Given the description of an element on the screen output the (x, y) to click on. 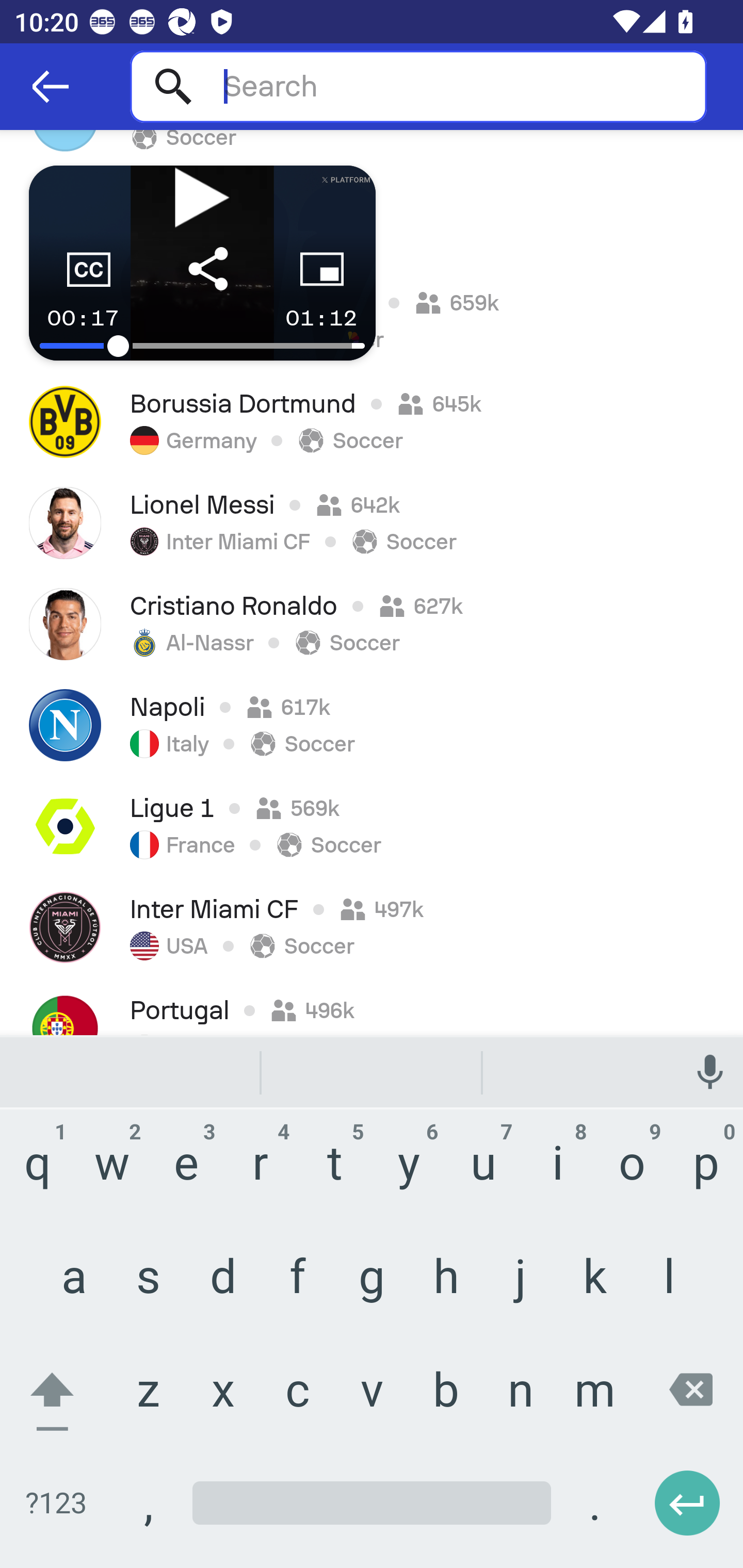
Navigate up (50, 86)
Search (418, 86)
Borussia Dortmund 645k Germany Soccer (371, 421)
Lionel Messi 642k Inter Miami CF Soccer (371, 522)
Cristiano Ronaldo 627k Al-Nassr Soccer (371, 623)
Napoli 617k Italy Soccer (371, 725)
Ligue 1 569k France Soccer (371, 826)
Inter Miami CF 497k USA Soccer (371, 927)
Portugal 496k Soccer (371, 1006)
